Given the description of an element on the screen output the (x, y) to click on. 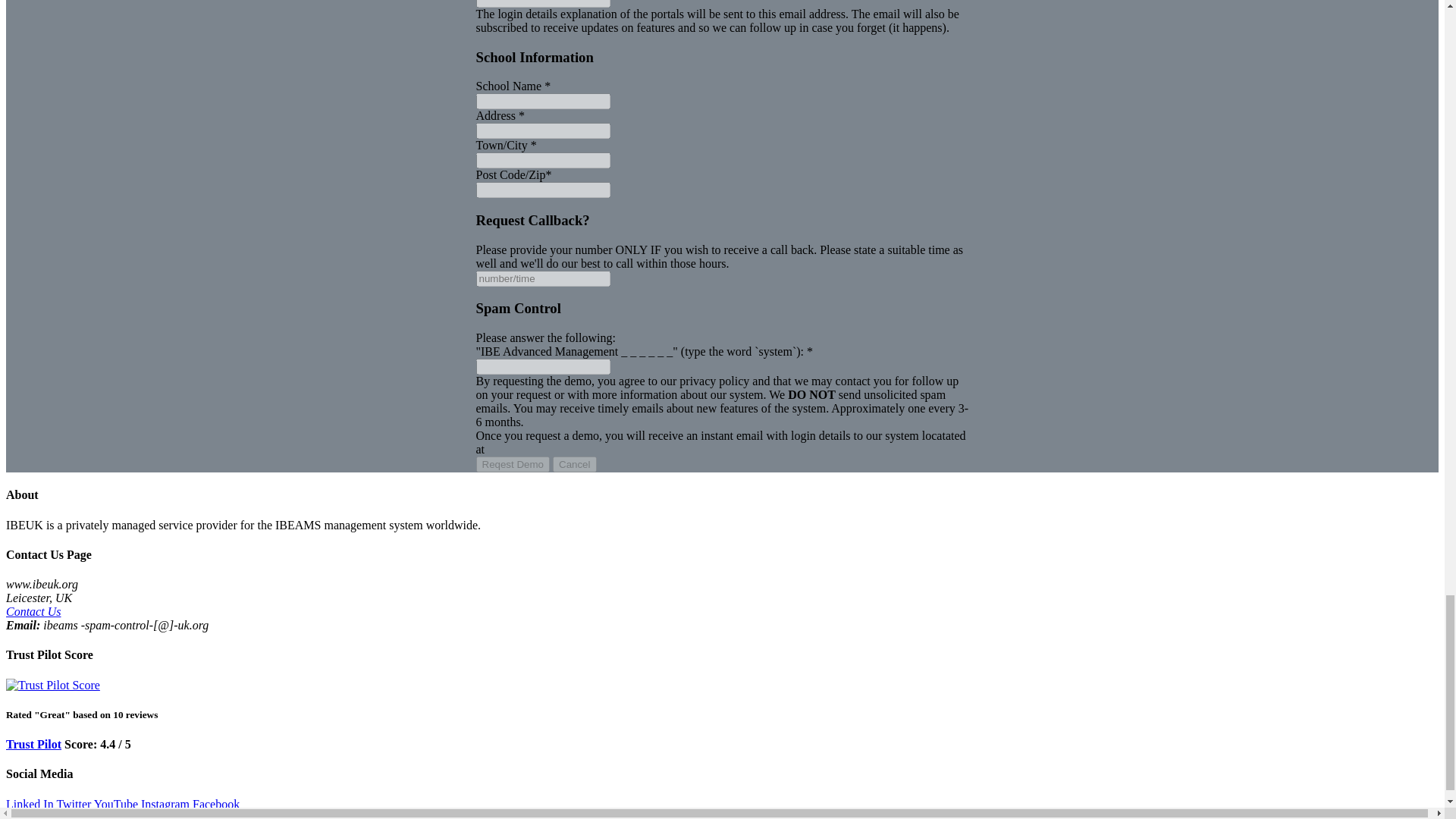
Contact Us (33, 611)
Reqest Demo (513, 464)
Linked In (29, 803)
Cancel (574, 464)
YouTube (116, 803)
Trust Pilot (33, 744)
Facebook (216, 803)
Twitter (73, 803)
Instagram (165, 803)
